Given the description of an element on the screen output the (x, y) to click on. 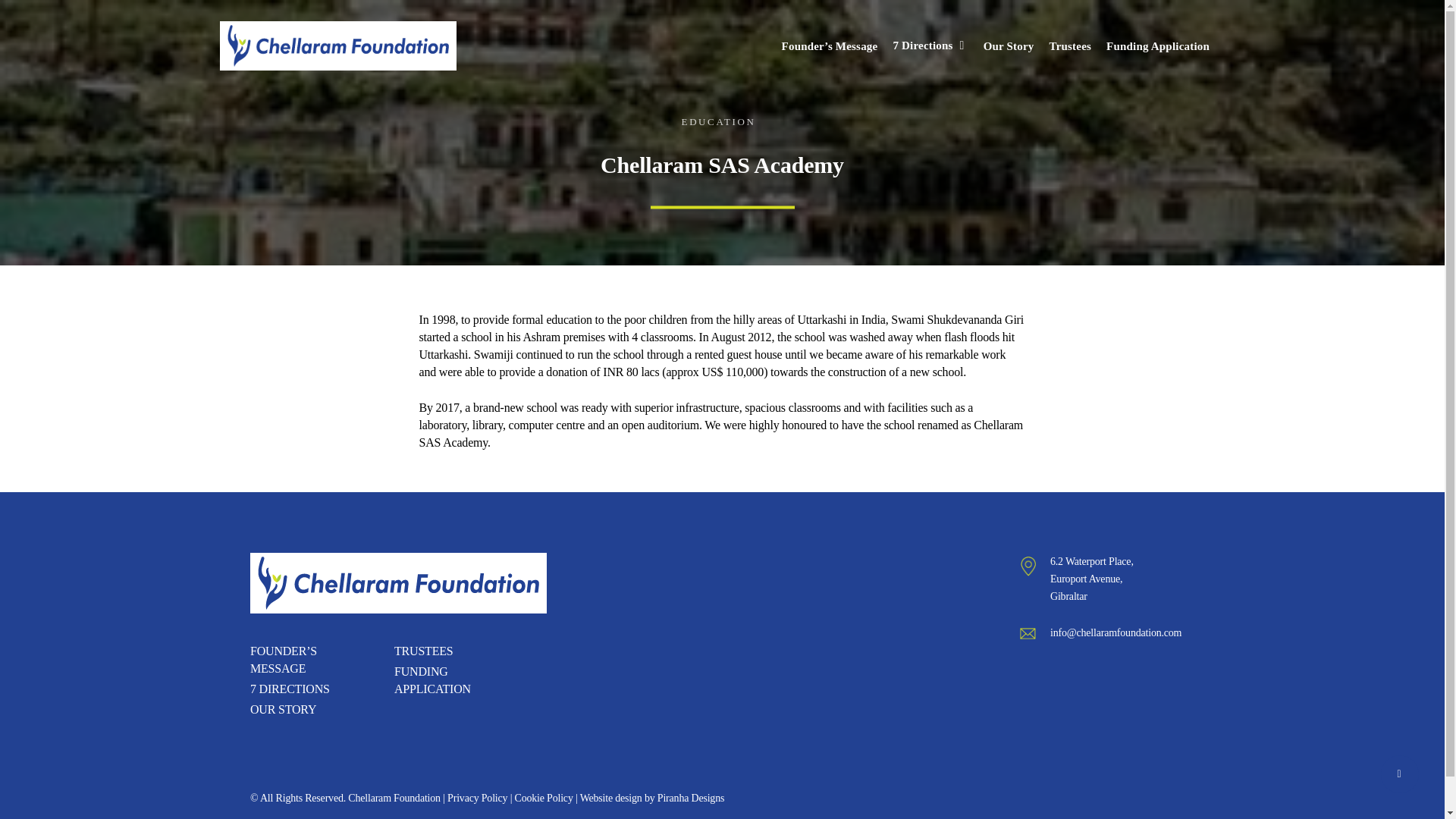
FUNDING APPLICATION (435, 679)
7 DIRECTIONS (291, 688)
Website design by Piranha Designs (652, 797)
Cookie Policy (544, 797)
OUR STORY (291, 709)
Cookie Policy (544, 797)
TRUSTEES (435, 650)
Website design by Piranha Designs (652, 797)
Email Us (1114, 632)
Privacy Policy (476, 797)
